Given the description of an element on the screen output the (x, y) to click on. 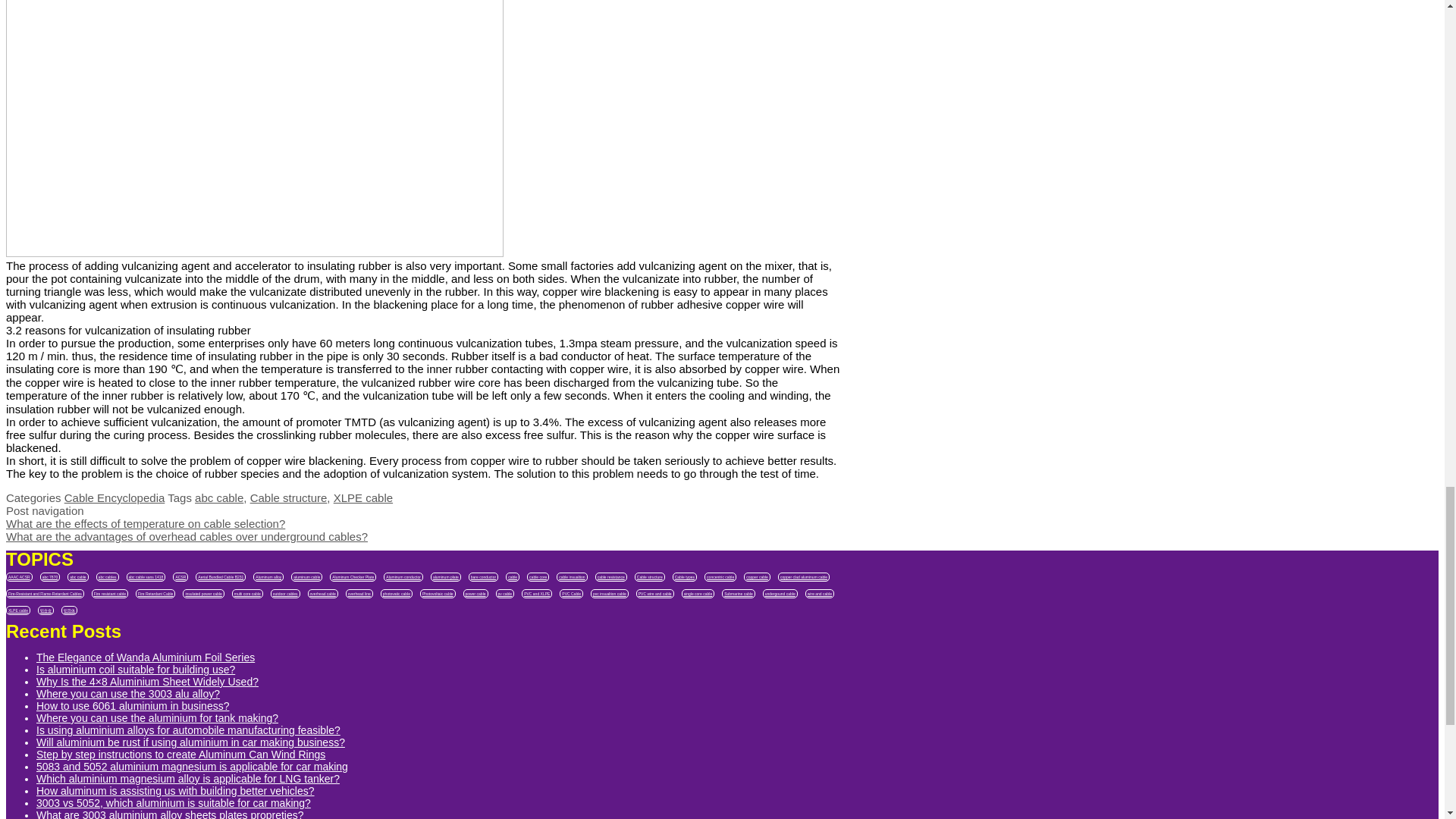
Next (186, 535)
AAAC ACSR (18, 576)
cable (512, 576)
bare conductor (482, 576)
Cable structure (288, 497)
aluminum plate (445, 576)
abc cable (76, 576)
concentric cable (720, 576)
cable resistance (611, 576)
ACSR (180, 576)
Aluminum conductor (403, 576)
Cable structure (649, 576)
aluminum cable (306, 576)
abc cable (219, 497)
